Given the description of an element on the screen output the (x, y) to click on. 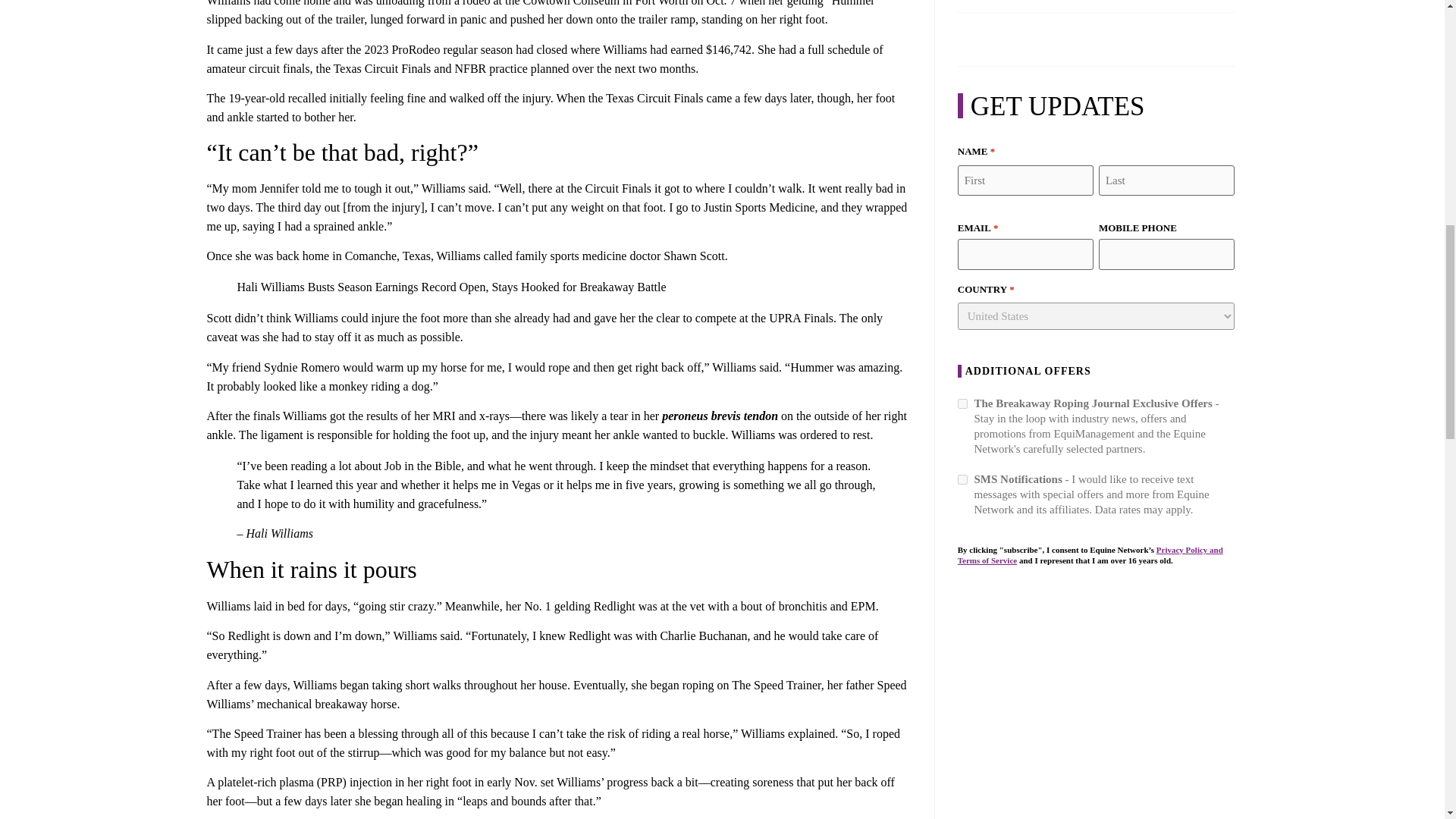
SMS Notifications (963, 479)
86ba63a1-8d71-451b-bbe1-bac27f9b3838 (963, 403)
Subscribe (996, 595)
